Given the description of an element on the screen output the (x, y) to click on. 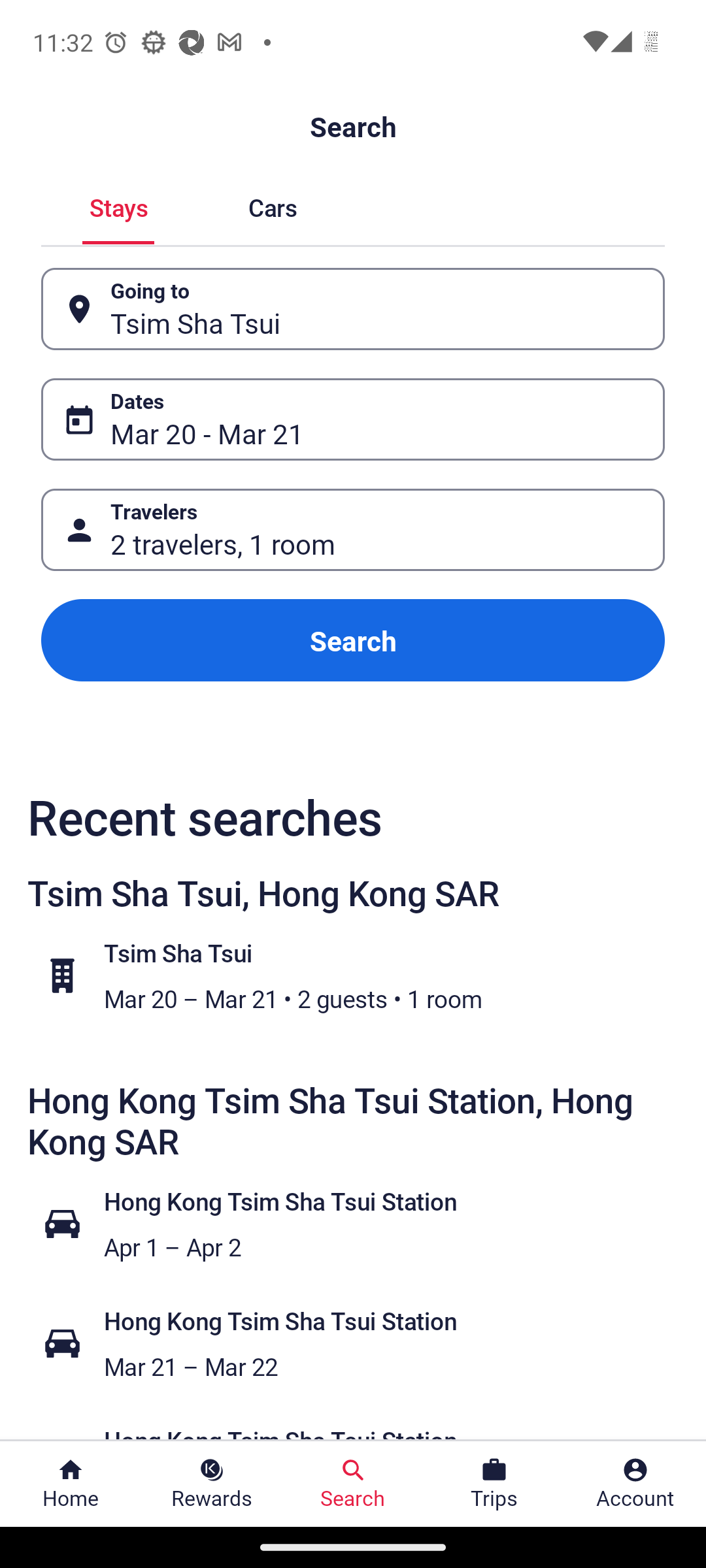
Cars (272, 205)
Going to Button Tsim Sha Tsui (352, 308)
Dates Button Mar 20 - Mar 21 (352, 418)
Travelers Button 2 travelers, 1 room (352, 529)
Search (352, 640)
Tsim Sha Tsui Mar 20 – Mar 21 • 2 guests • 1 room (363, 974)
Hong Kong Tsim Sha Tsui Station Apr 1 – Apr 2 (363, 1223)
Hong Kong Tsim Sha Tsui Station Mar 21 – Mar 22 (363, 1343)
Home Home Button (70, 1483)
Rewards Rewards Button (211, 1483)
Trips Trips Button (493, 1483)
Account Profile. Button (635, 1483)
